Given the description of an element on the screen output the (x, y) to click on. 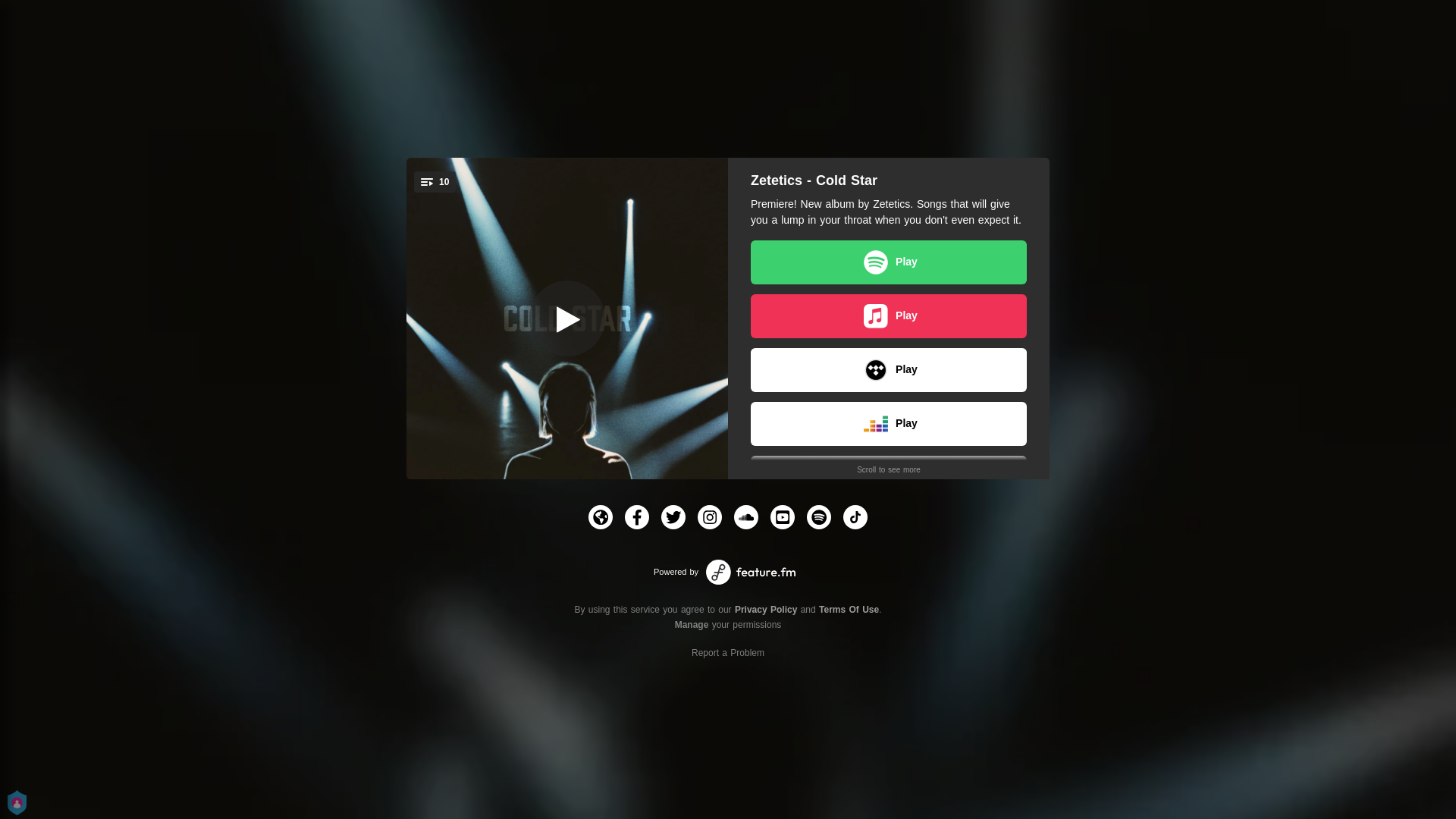
Terms Of Use Element type: text (848, 609)
Play Element type: text (888, 531)
Play Element type: text (888, 370)
Manage Element type: text (691, 624)
Report a Problem Element type: text (727, 652)
Play Element type: text (888, 316)
Play Element type: text (888, 585)
Play Element type: text (888, 262)
Play Element type: text (888, 423)
Privacy Policy Element type: text (765, 609)
Download Element type: text (888, 477)
